Given the description of an element on the screen output the (x, y) to click on. 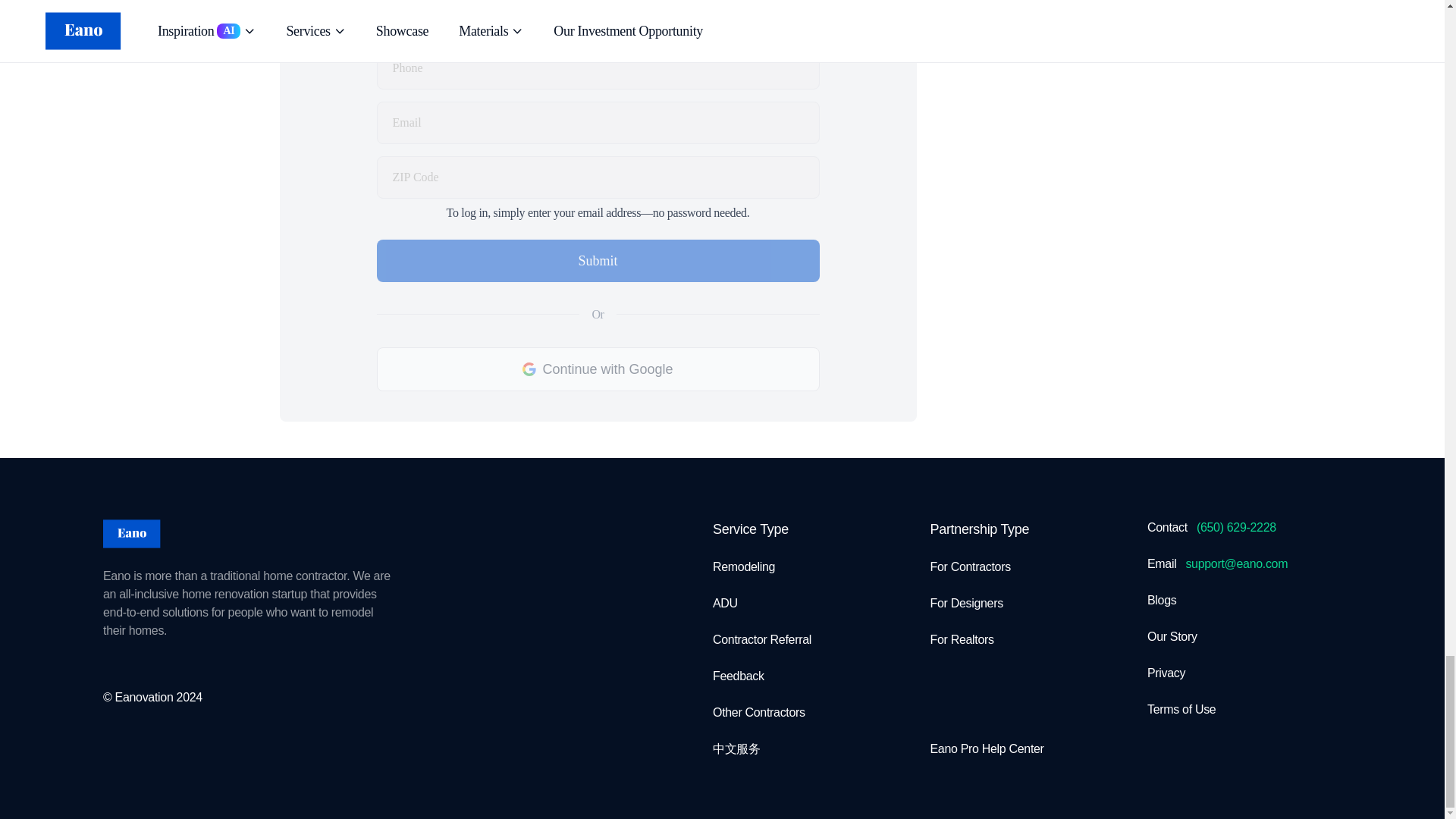
For Designers (966, 602)
For Realtors (961, 638)
Other Contractors (759, 711)
For Contractors (970, 565)
Submit (596, 260)
Remodeling (743, 565)
Eano Pro Help Center (986, 748)
Privacy (1166, 671)
Blogs (1161, 599)
Continue with Google (596, 369)
